Given the description of an element on the screen output the (x, y) to click on. 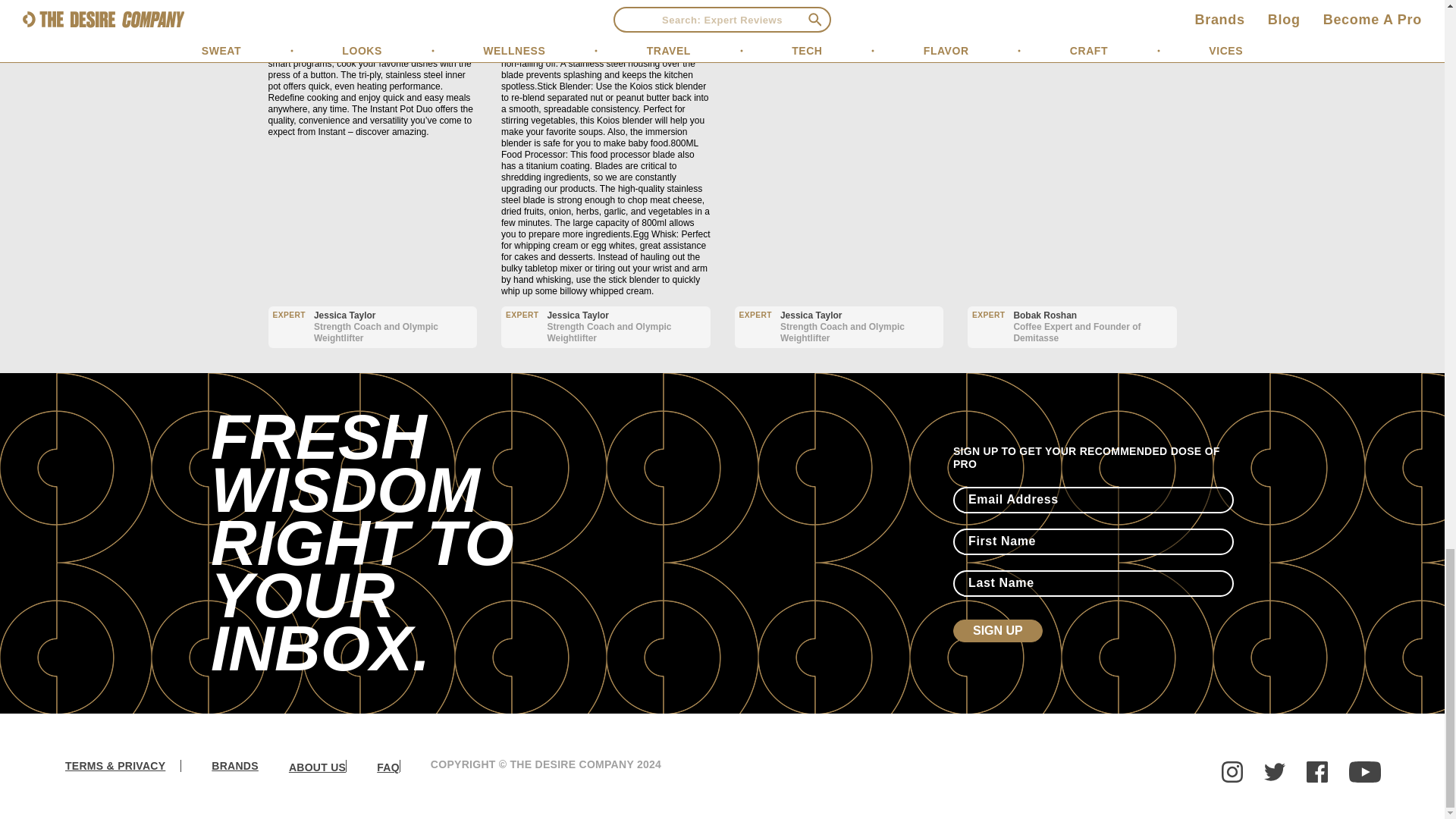
Instagram (1232, 771)
Twitter (1274, 771)
Facebook (1316, 771)
